Given the description of an element on the screen output the (x, y) to click on. 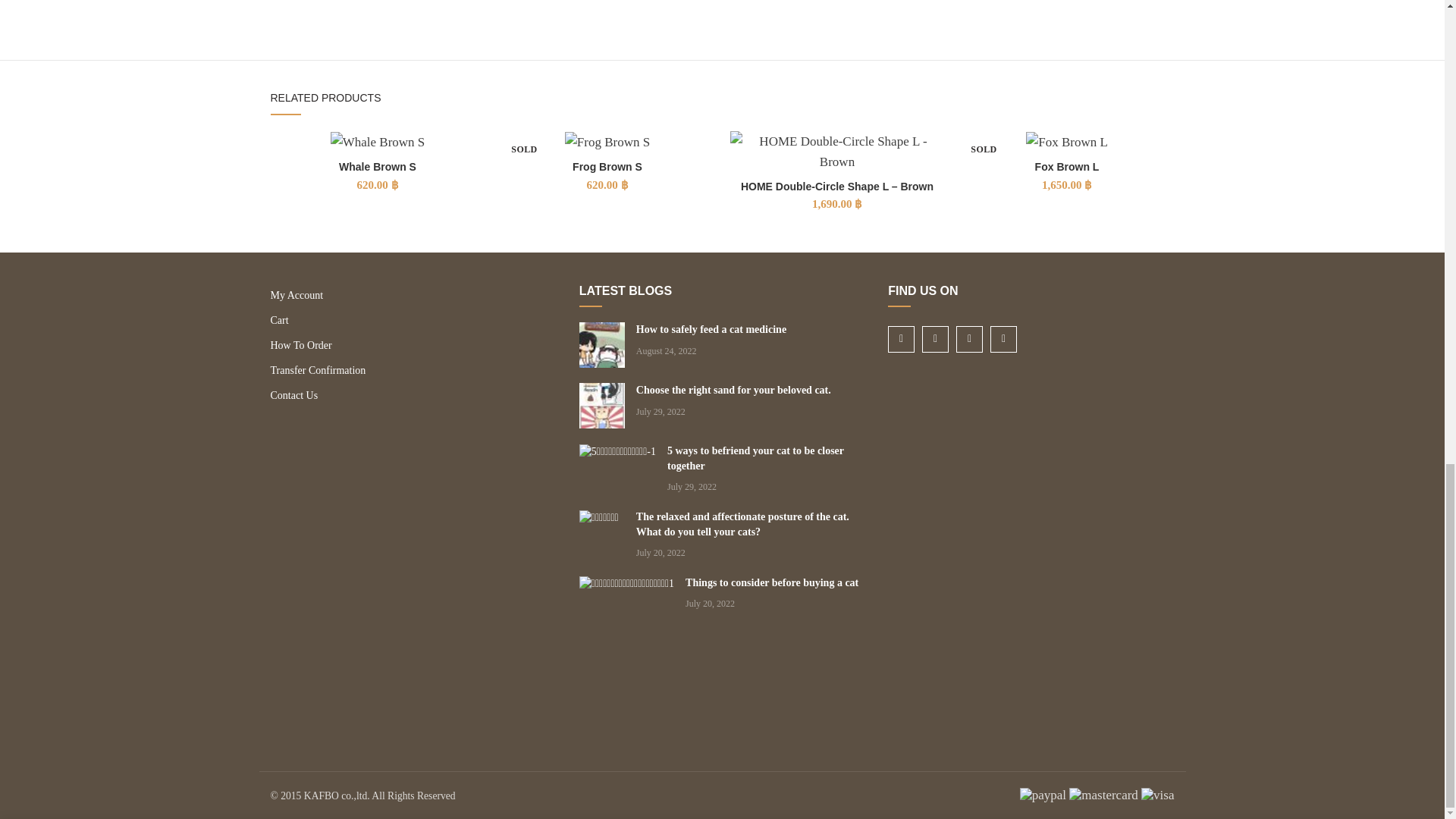
Permalink to How to safely feed a cat medicine (711, 328)
KAFBO "Home" Collection by KAFBO (459, 4)
Permalink to Choose the right sand for your beloved cat. (733, 389)
